Given the description of an element on the screen output the (x, y) to click on. 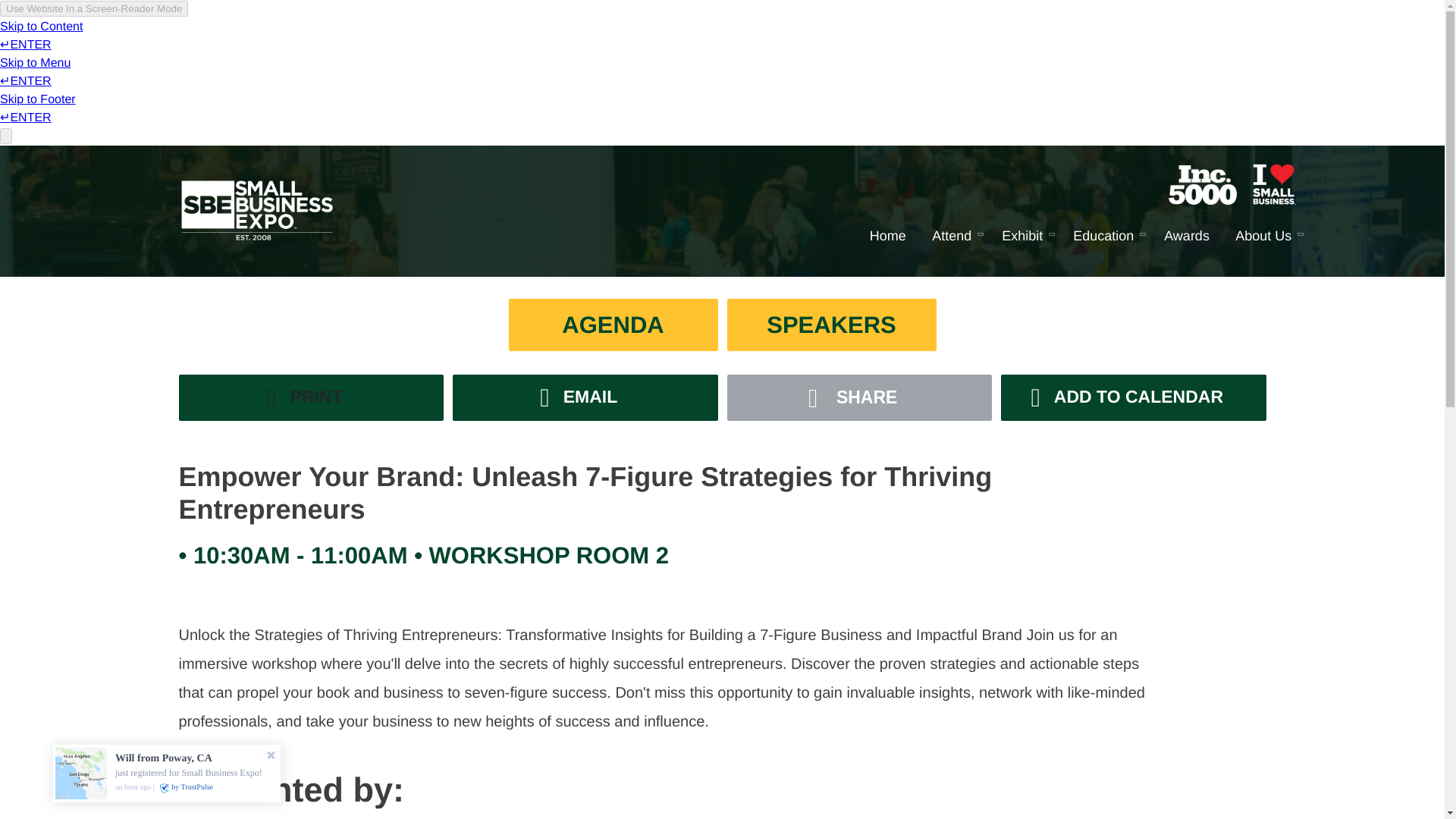
Attend (954, 238)
Exhibit (1024, 238)
Home (887, 238)
